Given the description of an element on the screen output the (x, y) to click on. 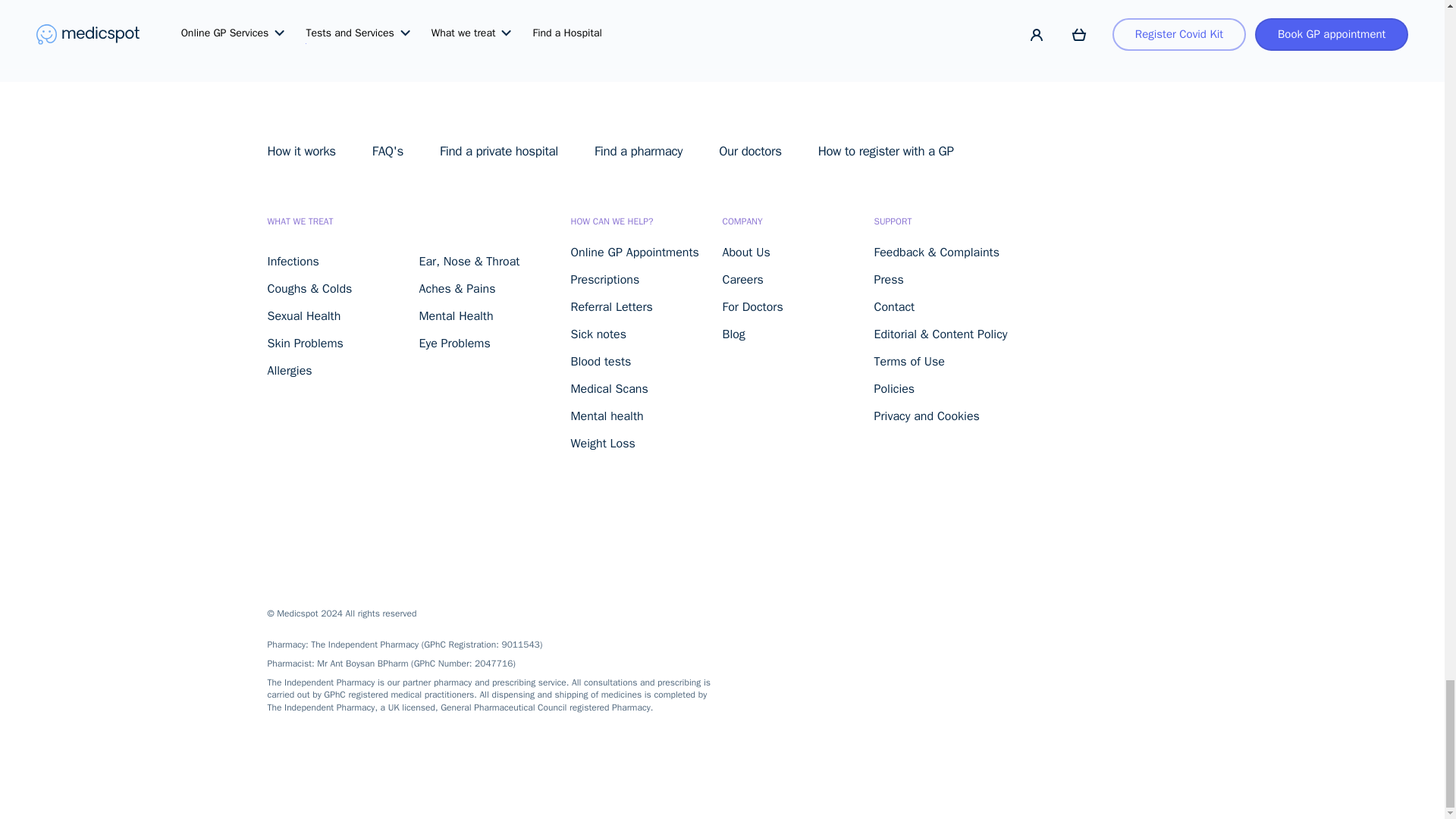
Medical Scans (608, 388)
Careers (742, 279)
Find a pharmacy (638, 150)
How it works (300, 150)
How to register with a GP (885, 150)
Mental Health (456, 315)
Skin Problems (304, 343)
Online GP Appointments (634, 252)
Referral Letters (611, 306)
Blood tests (600, 361)
Prescriptions (604, 279)
Weight Loss (602, 443)
Eye Problems (454, 343)
Our doctors (750, 150)
For Doctors (752, 306)
